Given the description of an element on the screen output the (x, y) to click on. 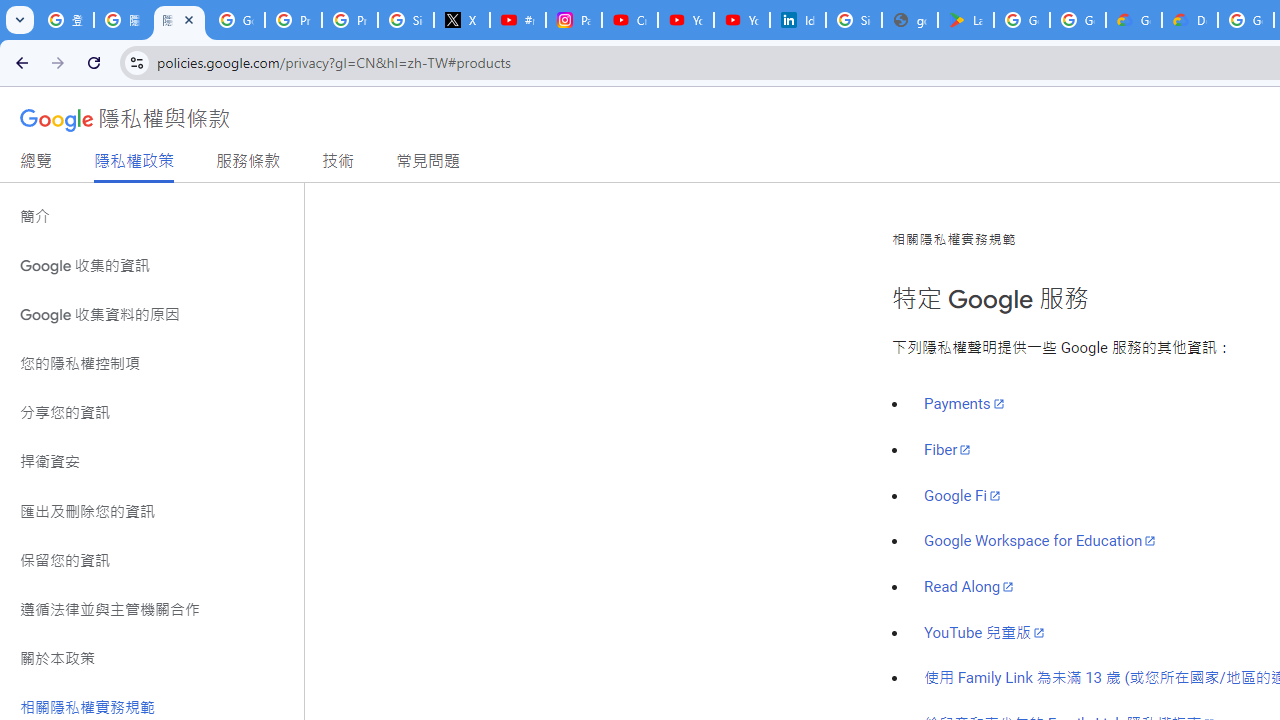
#nbabasketballhighlights - YouTube (518, 20)
Last Shelter: Survival - Apps on Google Play (966, 20)
